Given the description of an element on the screen output the (x, y) to click on. 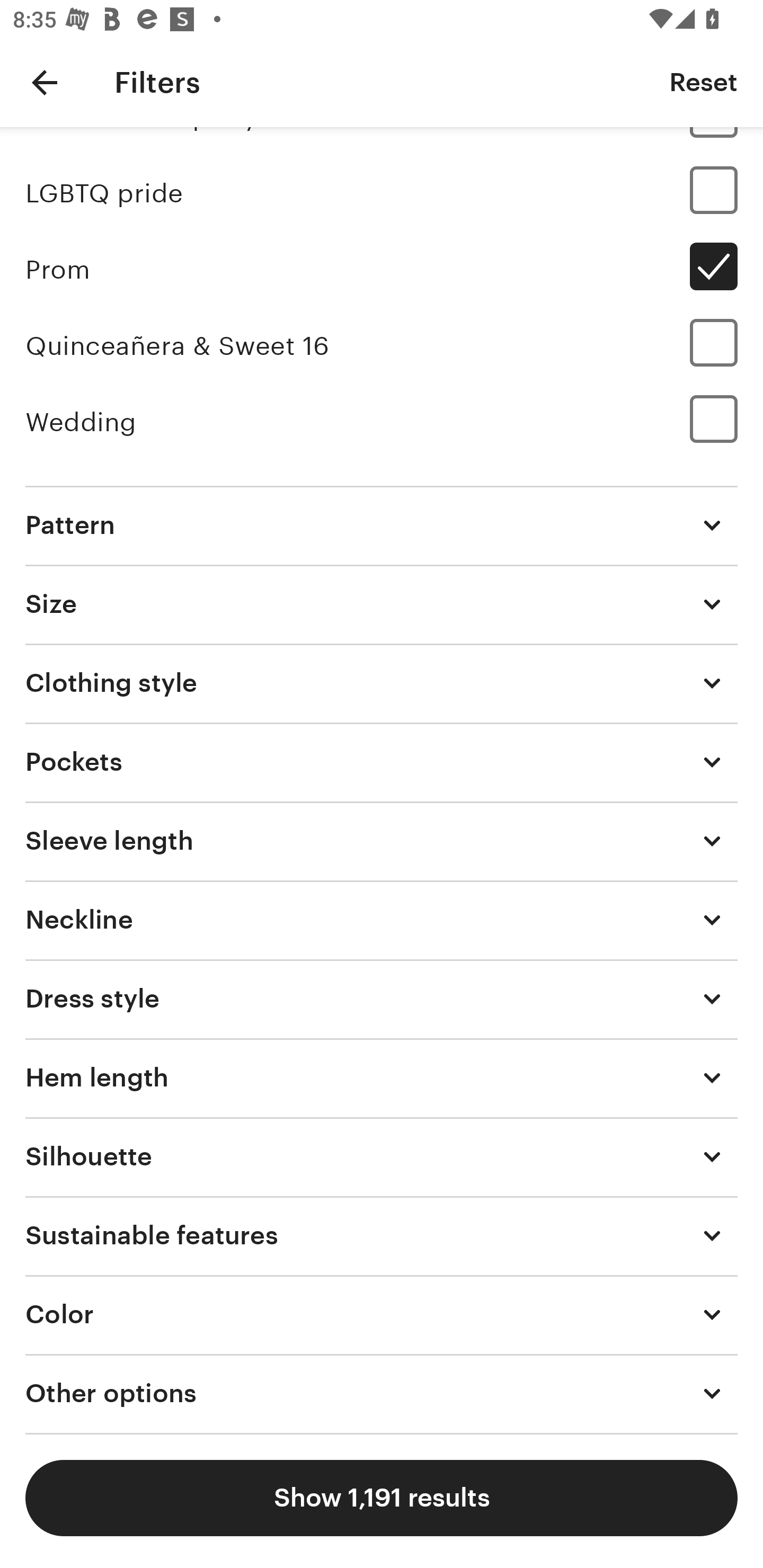
Navigate up (44, 82)
Reset (703, 81)
LGBTQ pride (381, 193)
Prom (381, 269)
Quinceañera & Sweet 16 (381, 345)
Wedding (381, 422)
Pattern (381, 525)
Size (381, 603)
Clothing style (381, 682)
Pockets (381, 761)
Sleeve length (381, 840)
Neckline (381, 919)
Dress style (381, 998)
Hem length (381, 1077)
Silhouette (381, 1156)
Sustainable features (381, 1235)
Color (381, 1314)
Other options (381, 1393)
Show 1,191 results Show 233,092 results (381, 1497)
